Given the description of an element on the screen output the (x, y) to click on. 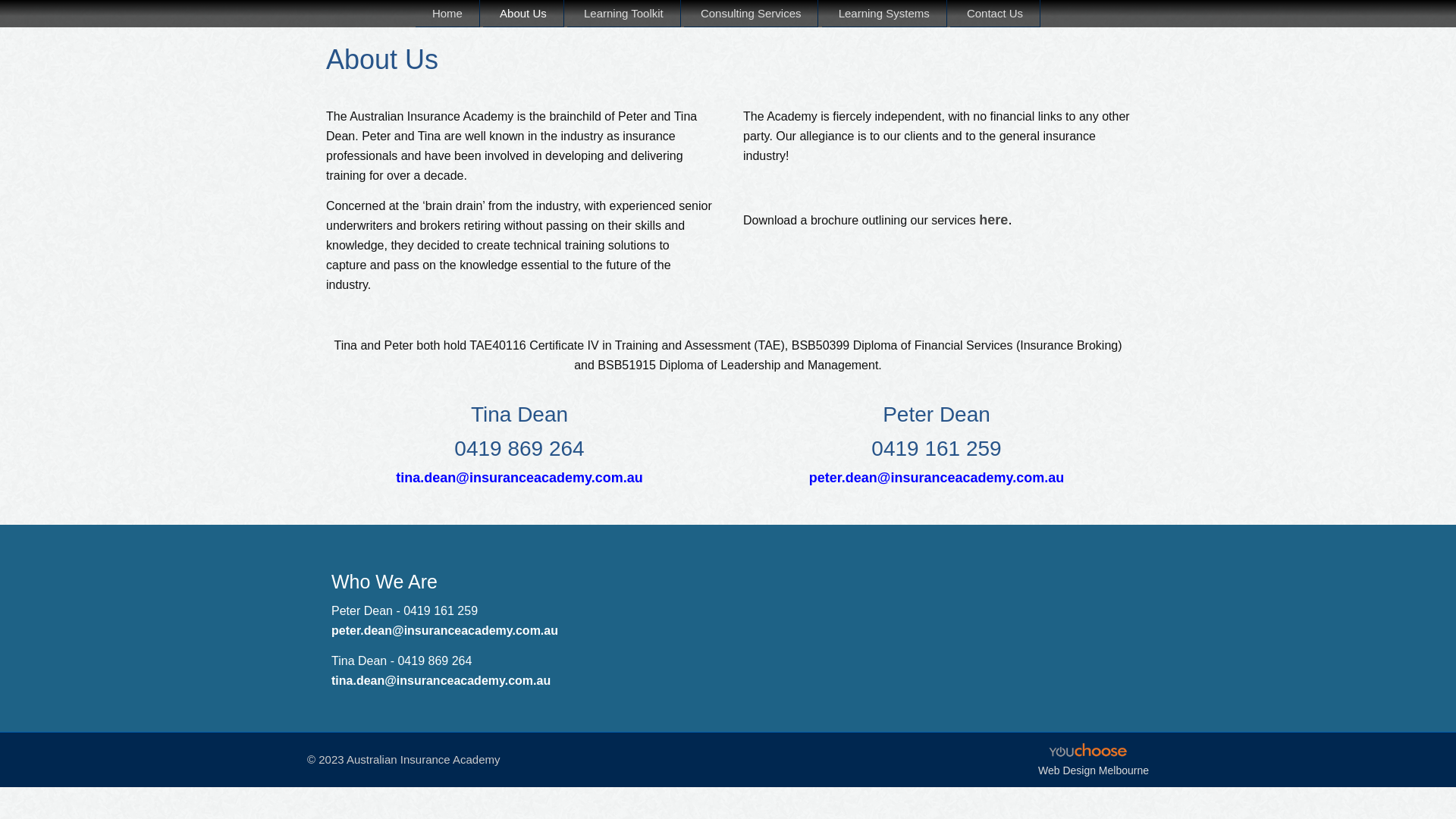
About Us Element type: text (523, 13)
Contact Us Element type: text (995, 13)
peter.dean@insuranceacademy.com.au Element type: text (936, 477)
Learning Toolkit Element type: text (623, 13)
Consulting Services Element type: text (751, 13)
peter.dean@insuranceacademy.com.au Element type: text (444, 630)
Learning Systems Element type: text (884, 13)
here Element type: text (993, 219)
tina.dean@insuranceacademy.com.au Element type: text (518, 477)
Home Element type: text (447, 13)
tina.dean@insuranceacademy.com.au Element type: text (440, 680)
Web Design Melbourne Element type: text (1093, 770)
